Given the description of an element on the screen output the (x, y) to click on. 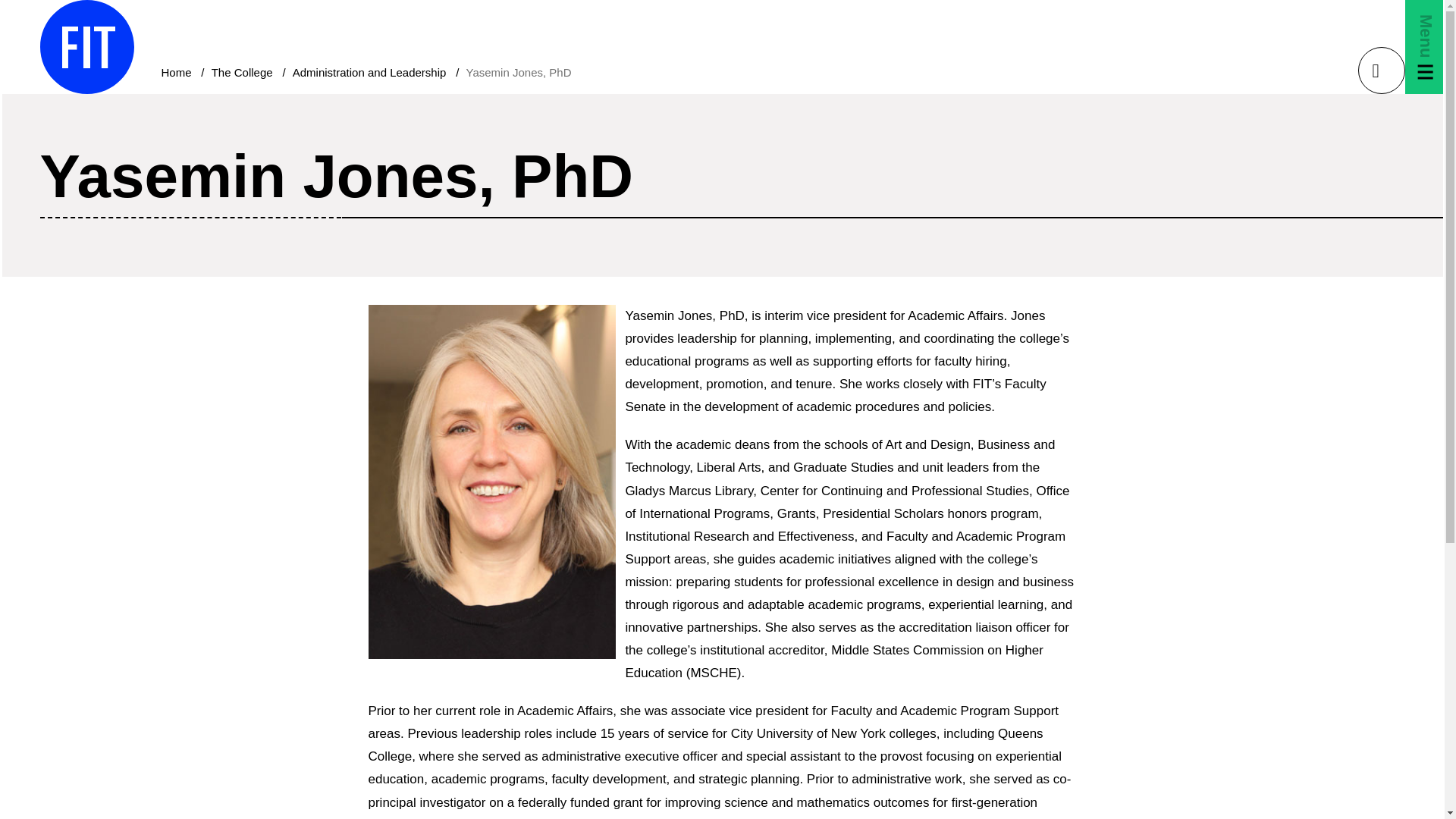
Home (175, 72)
toggle search (1380, 70)
The College (242, 72)
Administration and Leadership (369, 72)
